Given the description of an element on the screen output the (x, y) to click on. 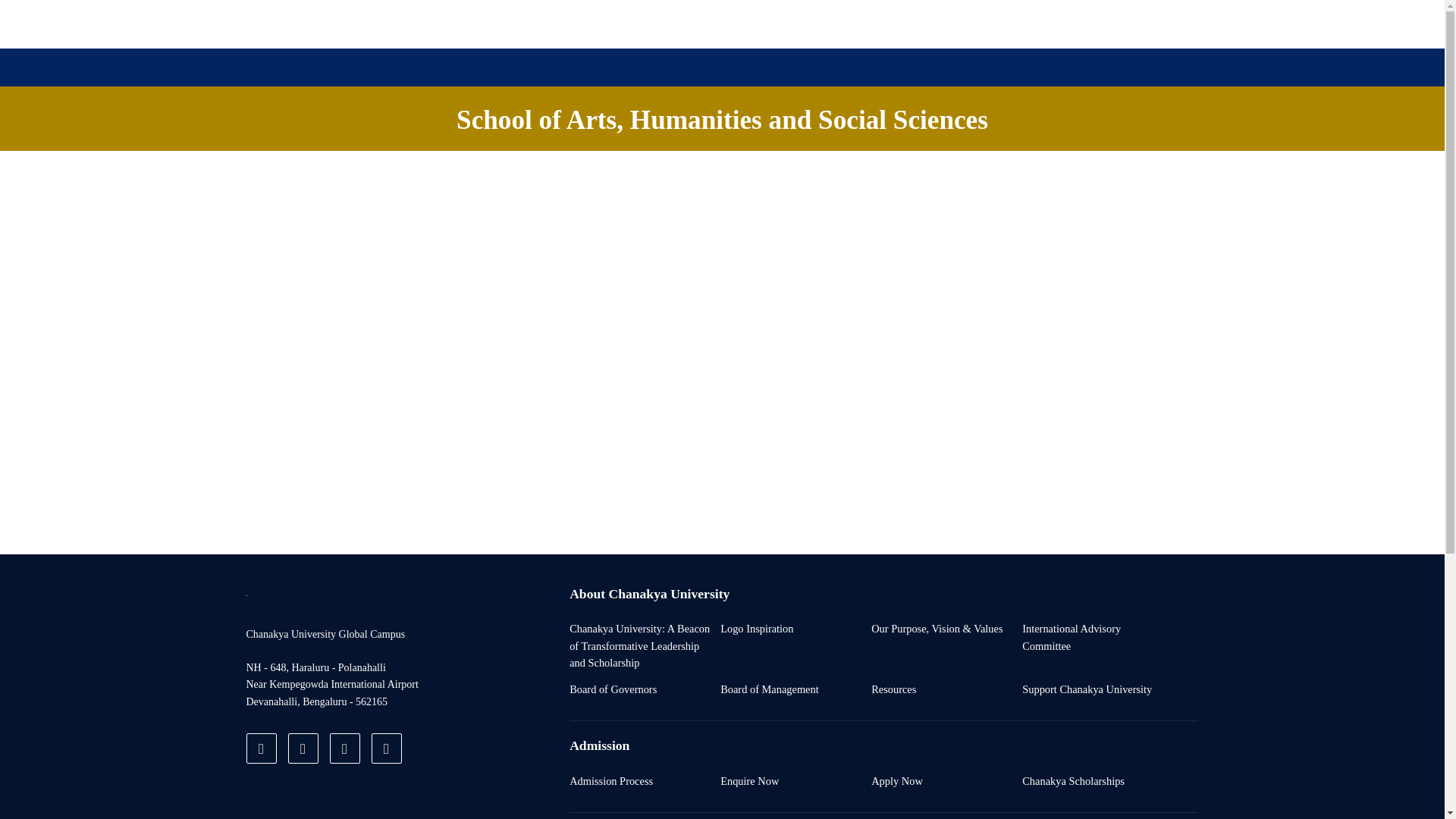
Logo Inspiration (756, 628)
Board of Management (769, 688)
Board of Governors (612, 688)
International Advisory Committee (1094, 636)
